Given the description of an element on the screen output the (x, y) to click on. 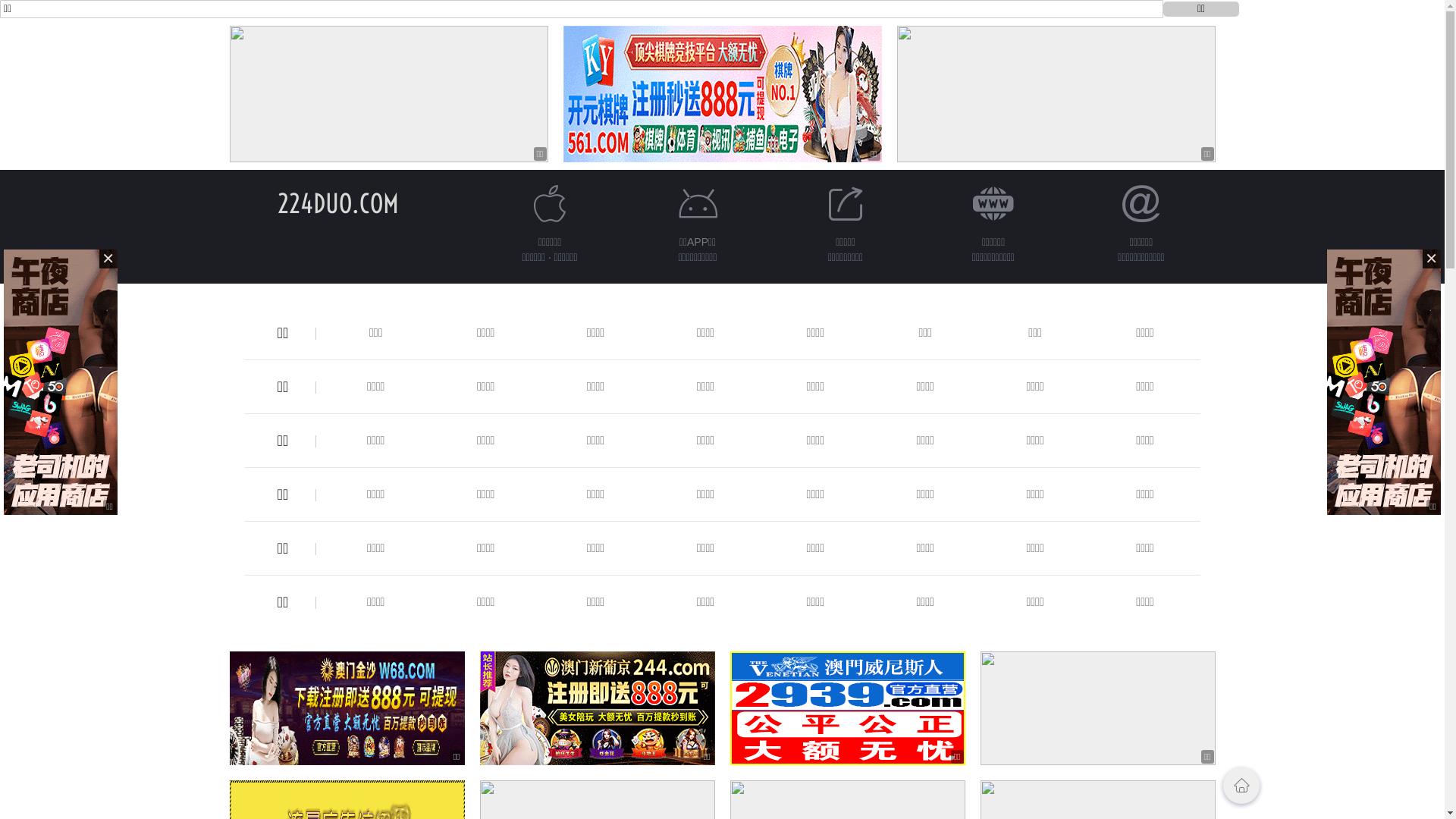
224DUO.COM Element type: text (337, 203)
